Given the description of an element on the screen output the (x, y) to click on. 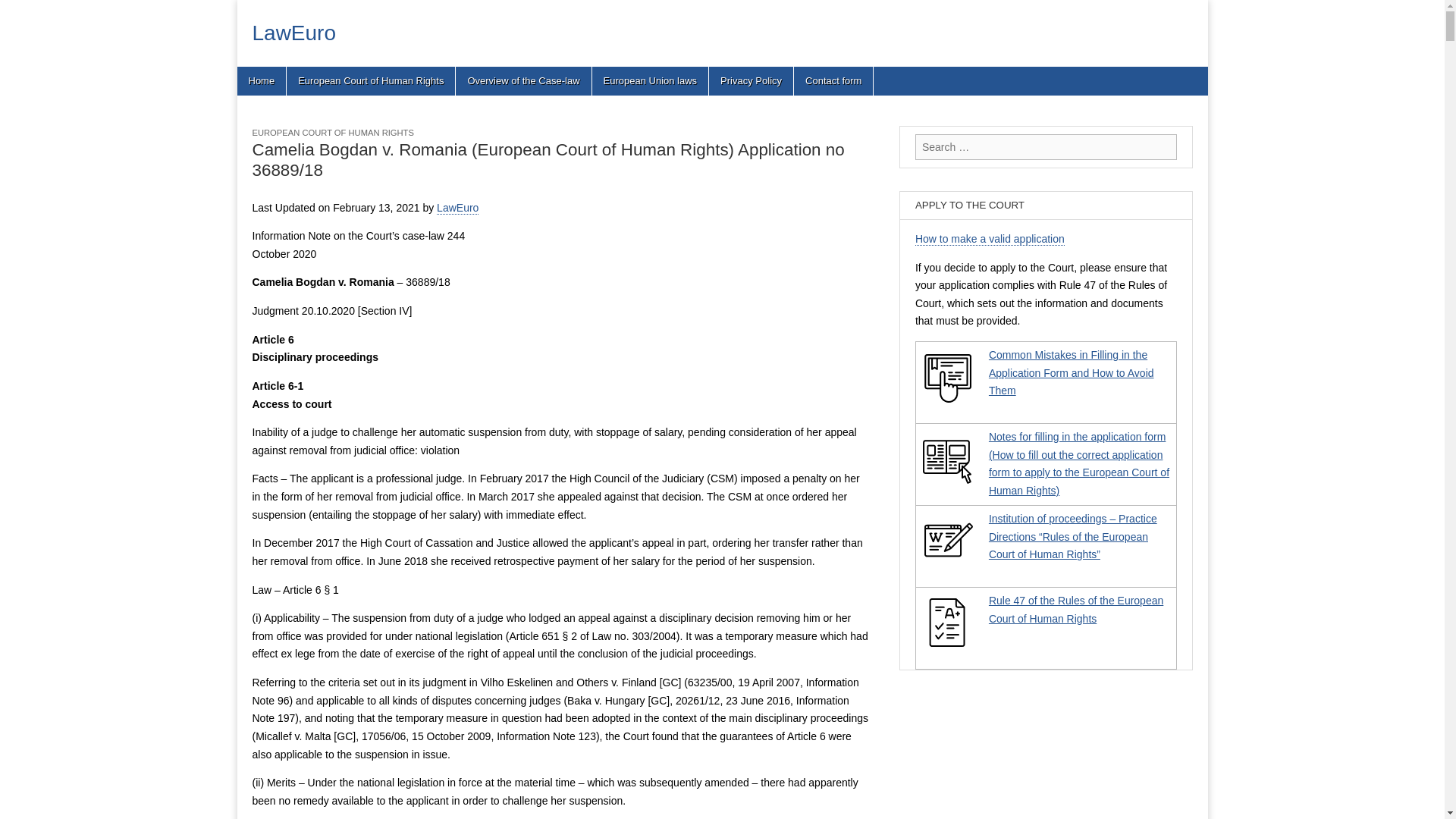
How to make a valid application (989, 238)
Search (23, 12)
LawEuro (457, 207)
European Court of Human Rights (370, 80)
LawEuro (293, 33)
LawEuro (293, 33)
European Union laws (650, 80)
Overview of the Case-law (523, 80)
EUROPEAN COURT OF HUMAN RIGHTS (332, 132)
Rule 47 of the Rules of the European Court of Human Rights (1075, 609)
Home (260, 80)
Privacy Policy (751, 80)
Contact form (832, 80)
